Given the description of an element on the screen output the (x, y) to click on. 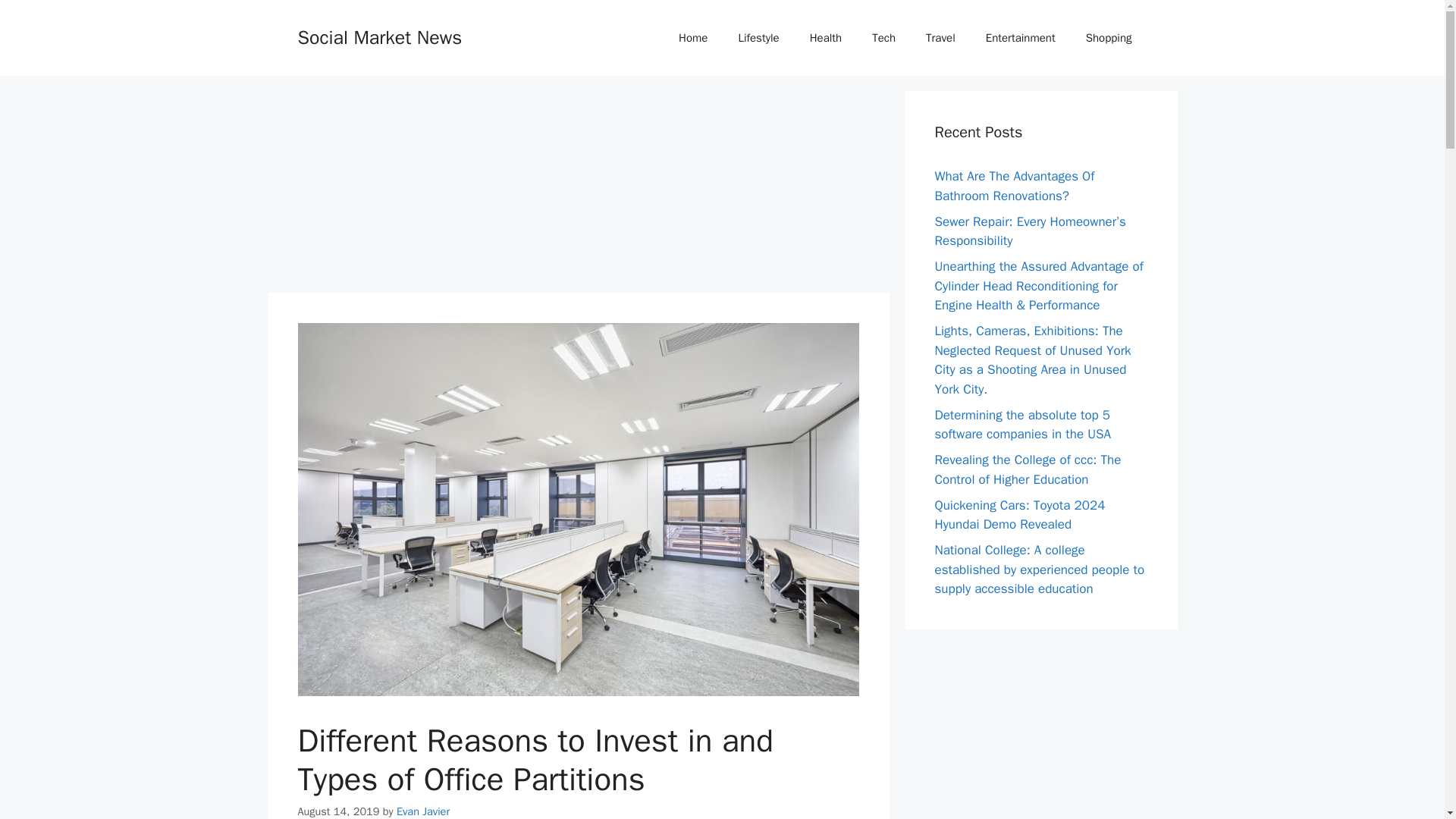
Home (692, 37)
View all posts by Evan Javier (422, 811)
Travel (941, 37)
Tech (884, 37)
Lifestyle (757, 37)
Evan Javier (422, 811)
What Are The Advantages Of Bathroom Renovations? (1014, 185)
Determining the absolute top 5 software companies in the USA (1022, 424)
Health (825, 37)
Quickening Cars: Toyota 2024 Hyundai Demo Revealed (1019, 515)
Shopping (1108, 37)
